Given the description of an element on the screen output the (x, y) to click on. 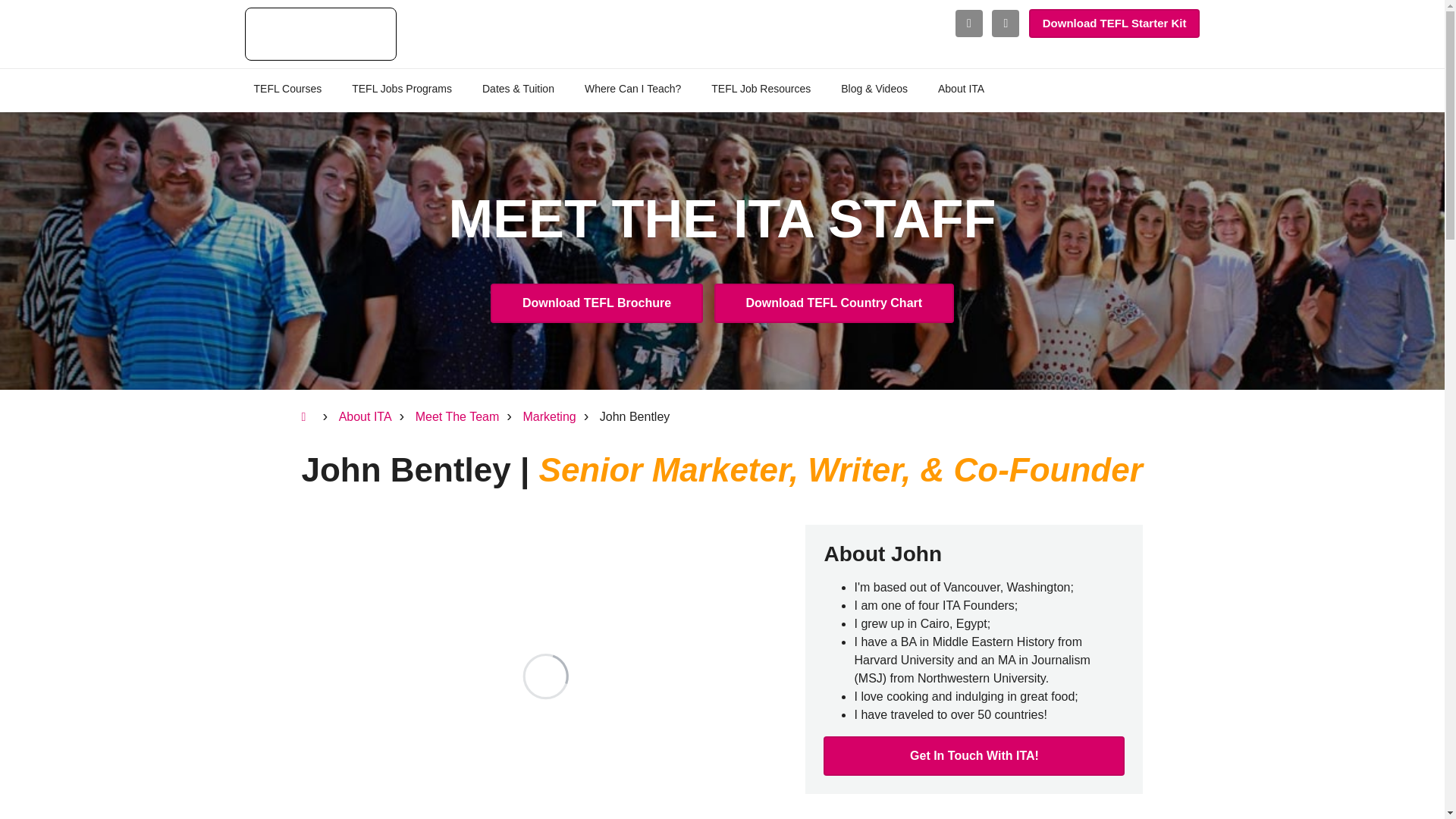
TEFL Courses (287, 90)
Download TEFL Brochure (596, 302)
Cart (968, 22)
Download TEFL Starter Kit (1114, 23)
Phone (1005, 22)
TEFL Jobs Programs (401, 90)
Download TEFL Starter Kit (1114, 23)
Download TEFL Country Chart (834, 302)
